Given the description of an element on the screen output the (x, y) to click on. 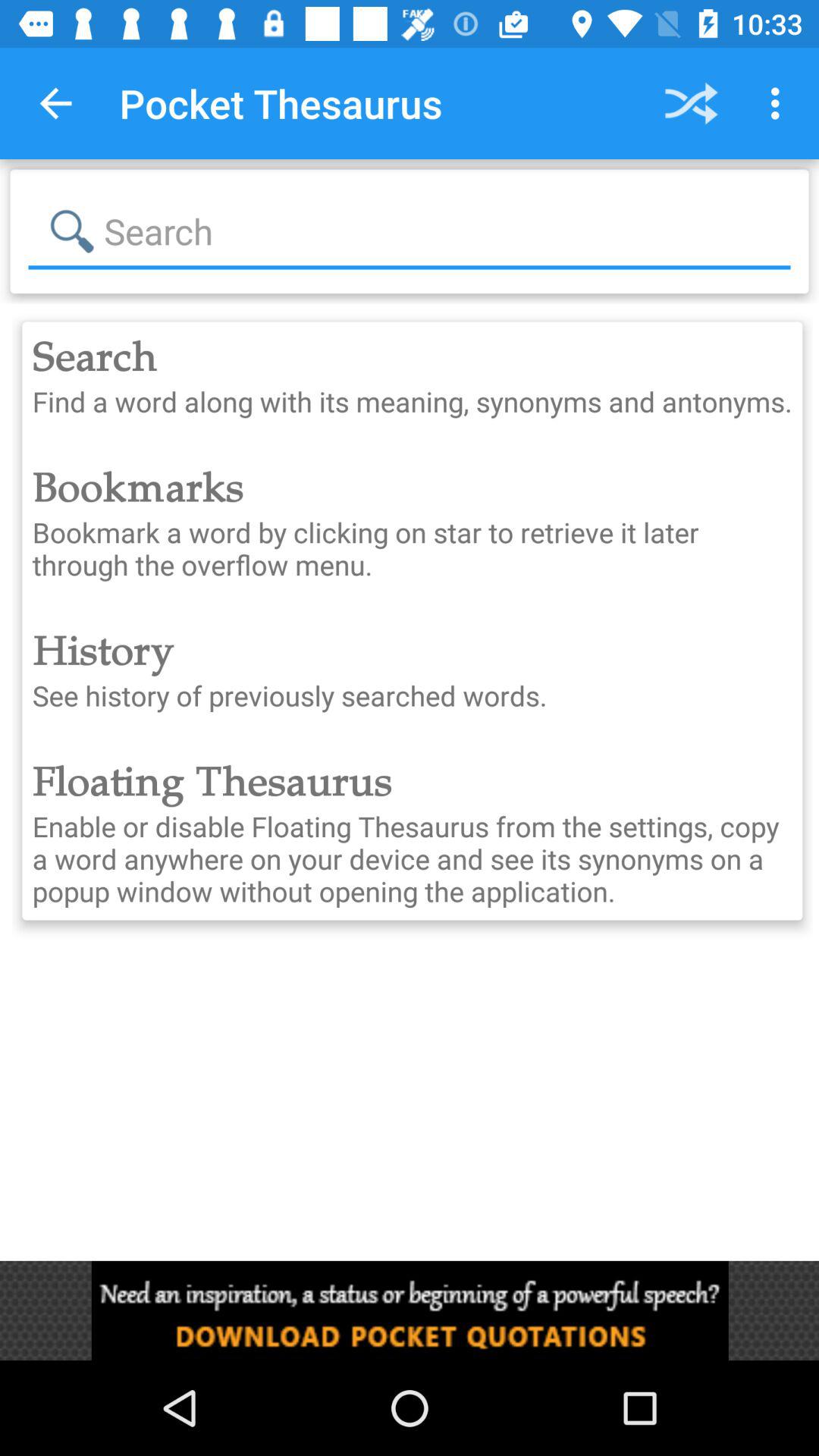
search (409, 231)
